Given the description of an element on the screen output the (x, y) to click on. 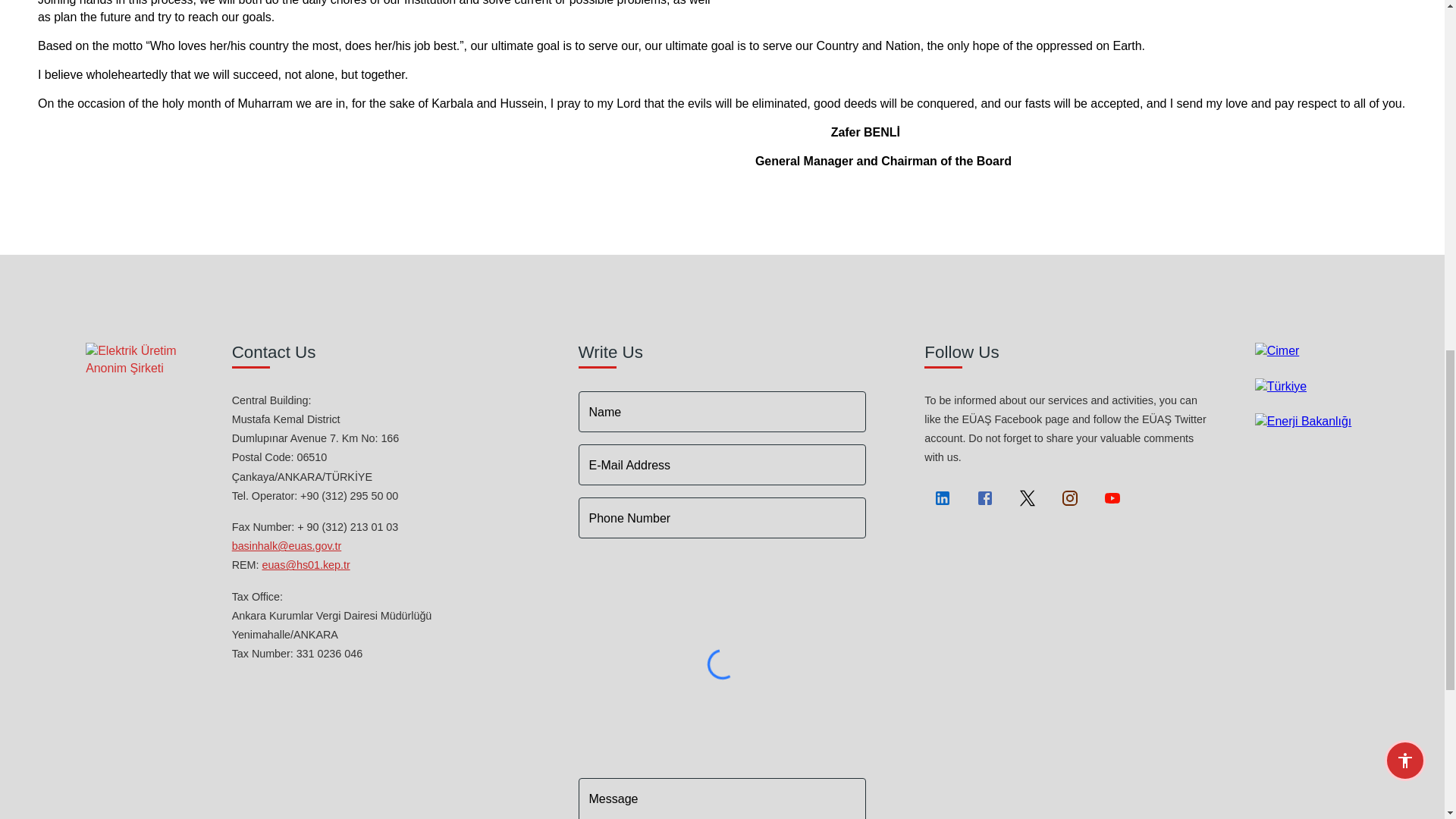
Twitter (1027, 497)
Linked In (942, 497)
Youtube (1112, 497)
Instagram (1069, 497)
Facebook (984, 497)
